Given the description of an element on the screen output the (x, y) to click on. 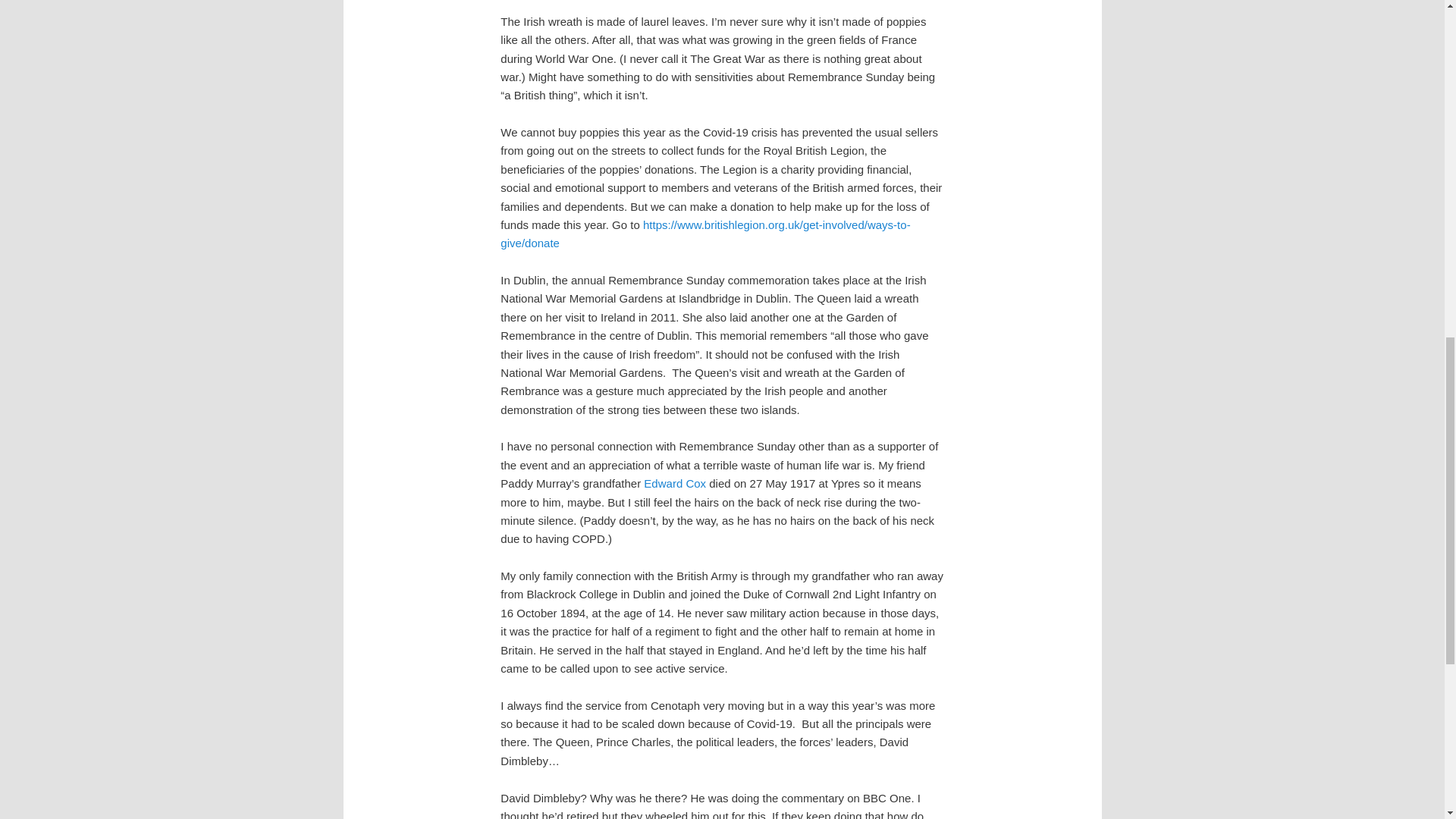
Edward Cox (674, 482)
